Given the description of an element on the screen output the (x, y) to click on. 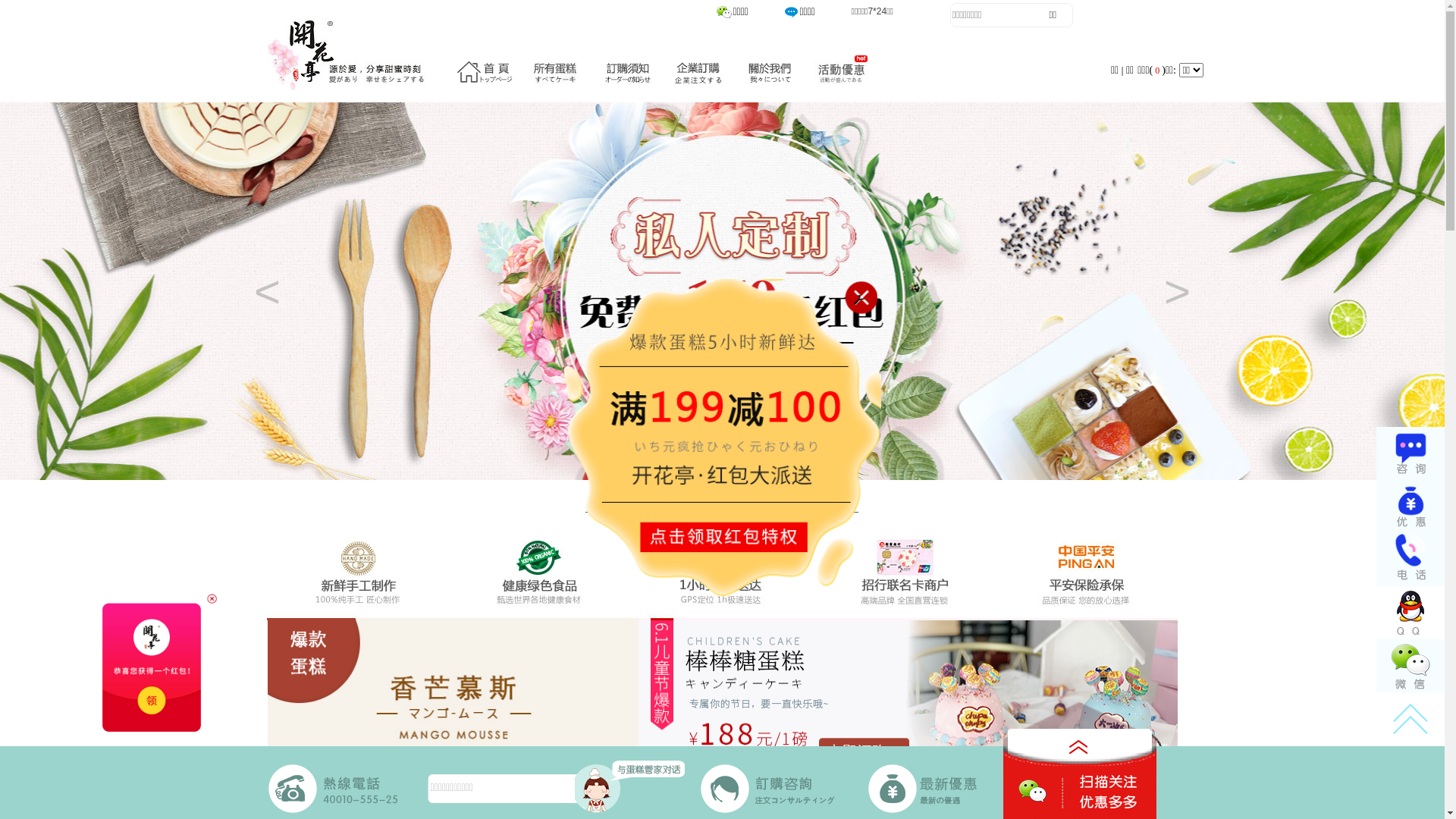
  Element type: text (1405, 666)
  Element type: text (1405, 714)
> Element type: text (1176, 291)
< Element type: text (266, 291)
